Given the description of an element on the screen output the (x, y) to click on. 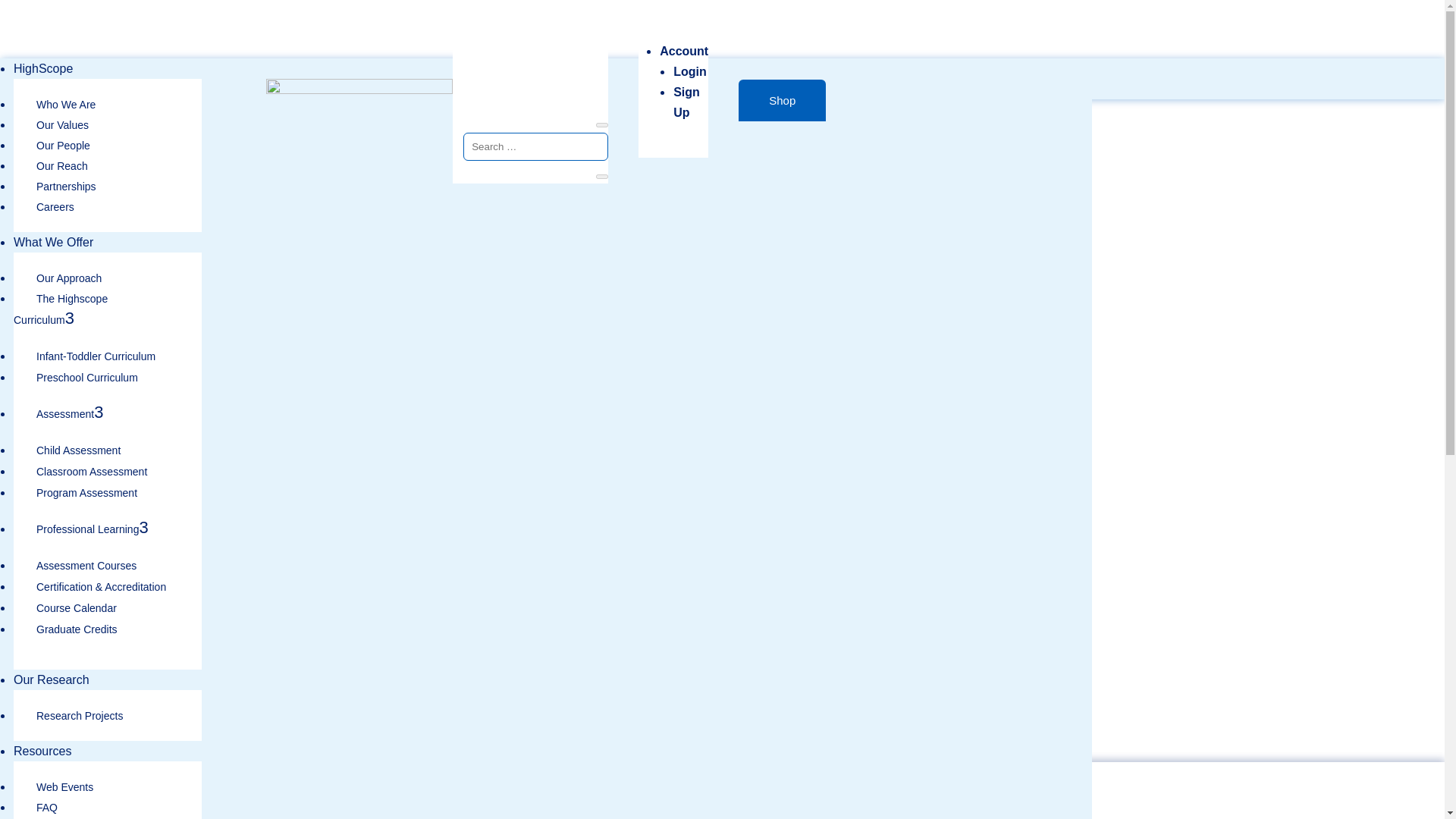
Shop (781, 100)
404-bg (546, 494)
logo (359, 91)
Login (689, 71)
Search for: (535, 146)
Account (683, 51)
